Given the description of an element on the screen output the (x, y) to click on. 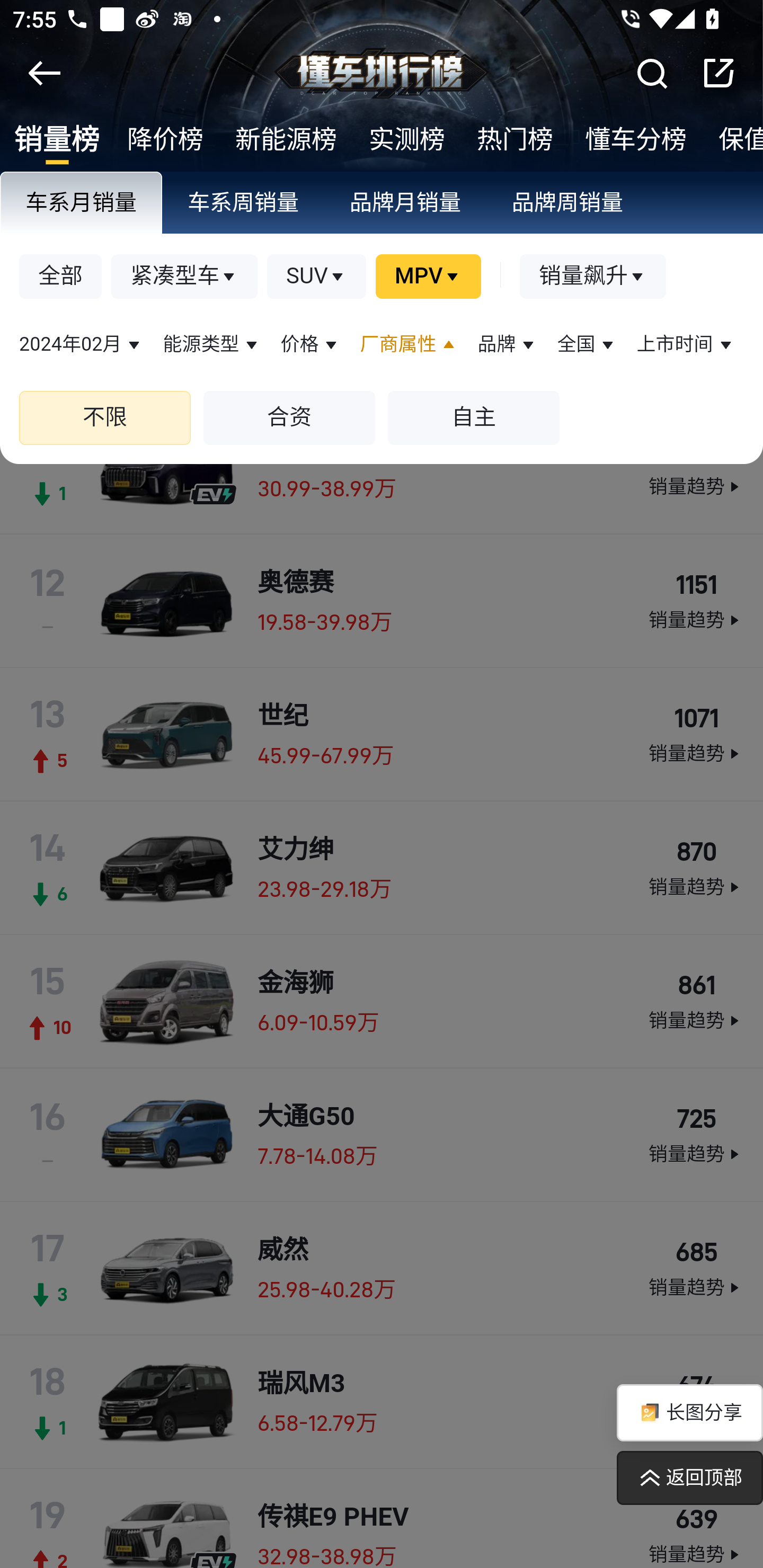
车系月销量 (81, 204)
车系周销量 (243, 204)
品牌月销量 (405, 204)
品牌周销量 (567, 204)
全部 (61, 277)
紧凑型车 (185, 277)
SUV (317, 277)
MPV (428, 277)
销量飙升 (593, 277)
2024年02月 (81, 345)
能源类型 (211, 345)
价格 (310, 345)
厂商属性 (409, 345)
品牌 (507, 345)
全国 (587, 345)
上市时间 (685, 345)
不限  (104, 418)
合资  (289, 418)
自主  (473, 418)
长图分享 (688, 1413)
返回顶部 (688, 1478)
